Given the description of an element on the screen output the (x, y) to click on. 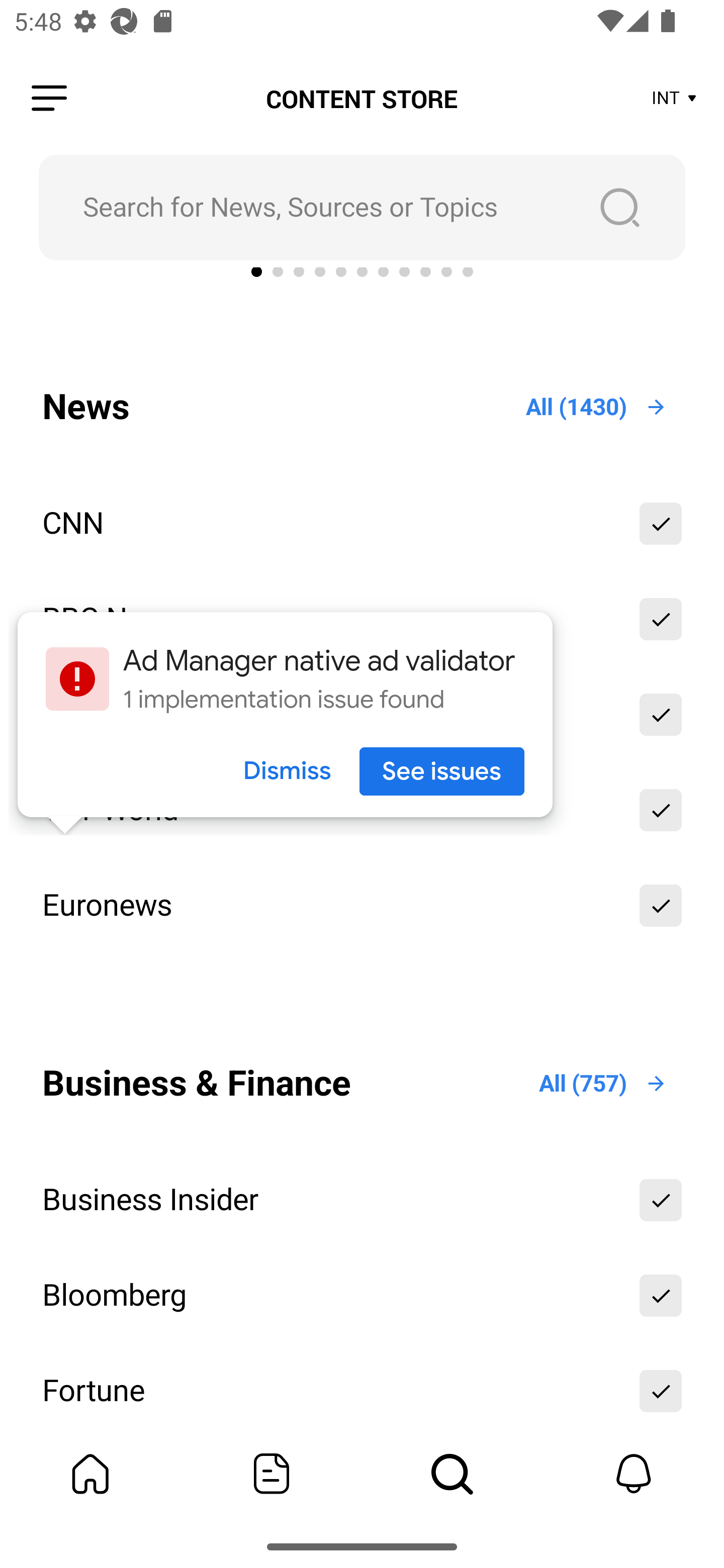
INT Store Area (674, 98)
Leading Icon (49, 98)
Search for News, Sources or Topics Search Button (361, 207)
All (1430) Open All Icon (596, 407)
CNN Add To My Bundle (361, 523)
Add To My Bundle (660, 523)
Add To My Bundle (660, 619)
Add To My Bundle (660, 714)
Add To My Bundle (660, 810)
Euronews Add To My Bundle (361, 905)
Add To My Bundle (660, 905)
All (757) Open All Icon (603, 1083)
Business Insider Add To My Bundle (361, 1199)
Add To My Bundle (660, 1199)
Bloomberg Add To My Bundle (361, 1294)
Add To My Bundle (660, 1294)
Fortune Add To My Bundle (361, 1386)
Add To My Bundle (660, 1386)
My Bundle (90, 1473)
Featured (271, 1473)
Notifications (633, 1473)
